Given the description of an element on the screen output the (x, y) to click on. 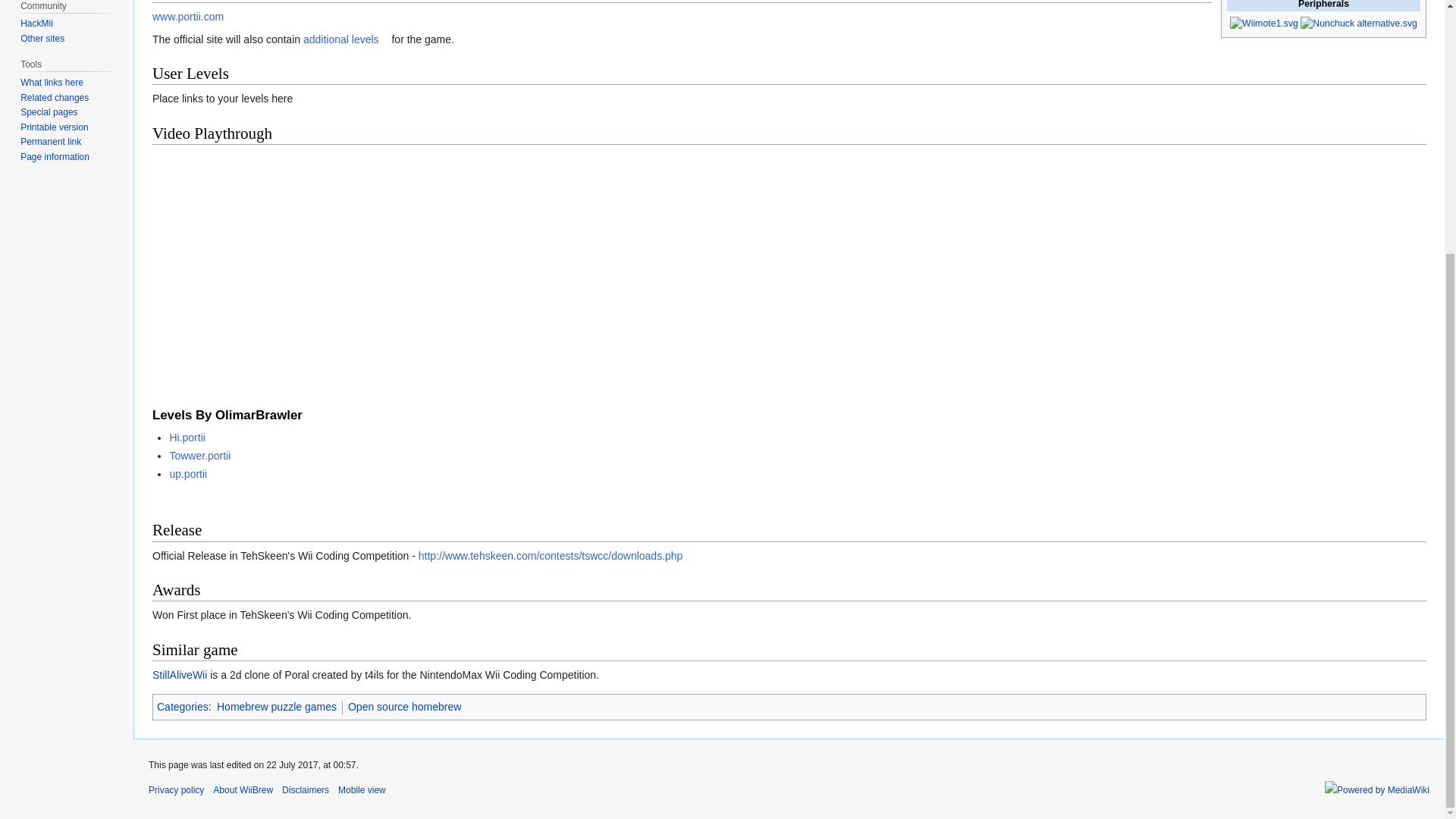
StillAliveWii (179, 674)
Wiimote (1264, 22)
Nunchuck (1358, 22)
Open source homebrew (404, 706)
up.portii (192, 473)
StillAliveWii (179, 674)
Towwer.portii (204, 455)
www.portii.com (192, 16)
Categories (182, 706)
Homebrew puzzle games (276, 706)
Hi.portii (191, 437)
Category:Open source homebrew (404, 706)
additional levels (345, 39)
Category:Homebrew puzzle games (276, 706)
Special:Categories (182, 706)
